Given the description of an element on the screen output the (x, y) to click on. 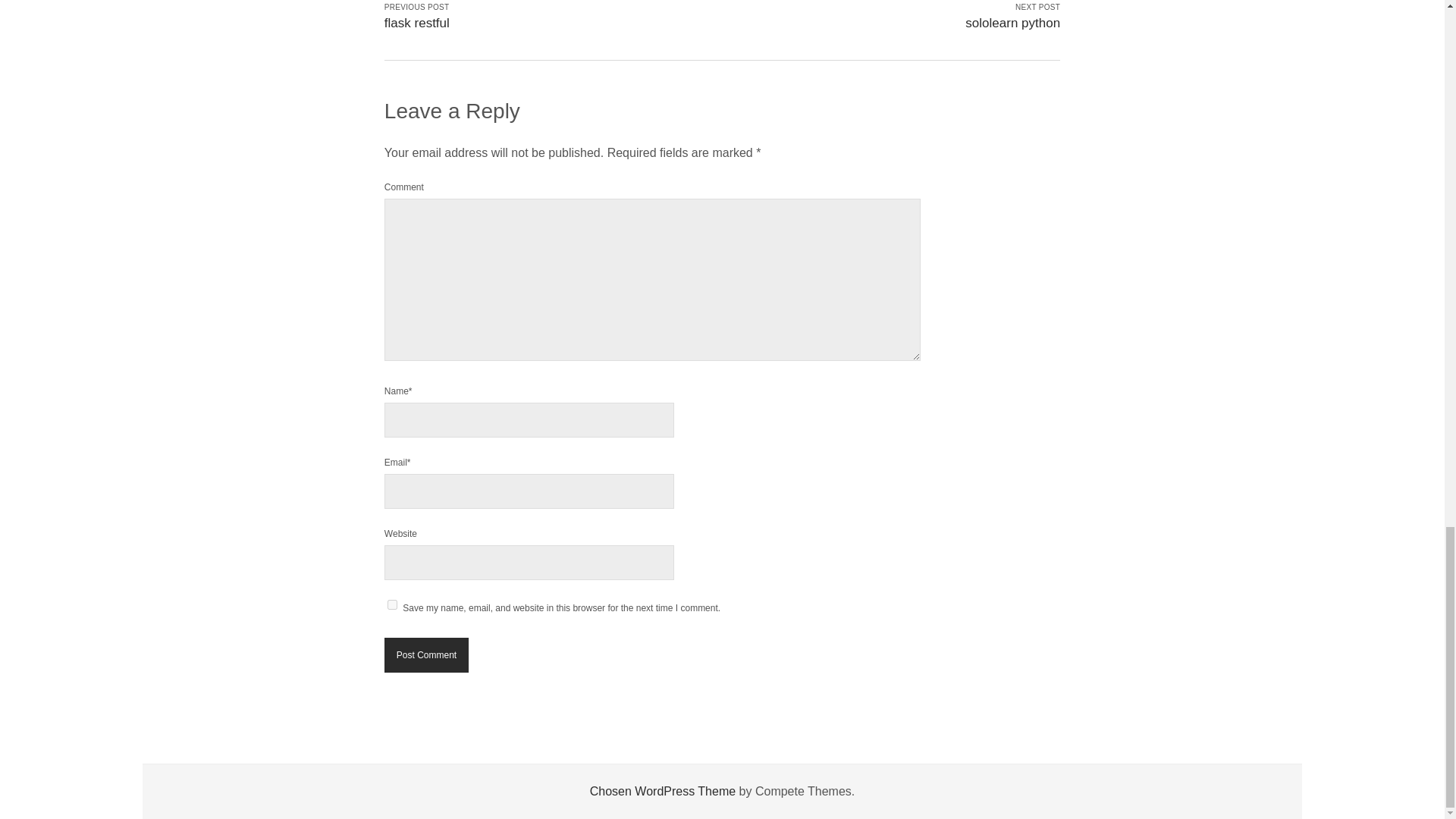
sololearn python (1012, 22)
yes (392, 604)
Chosen WordPress Theme (662, 790)
Post Comment (426, 655)
Post Comment (426, 655)
flask restful (416, 22)
